Given the description of an element on the screen output the (x, y) to click on. 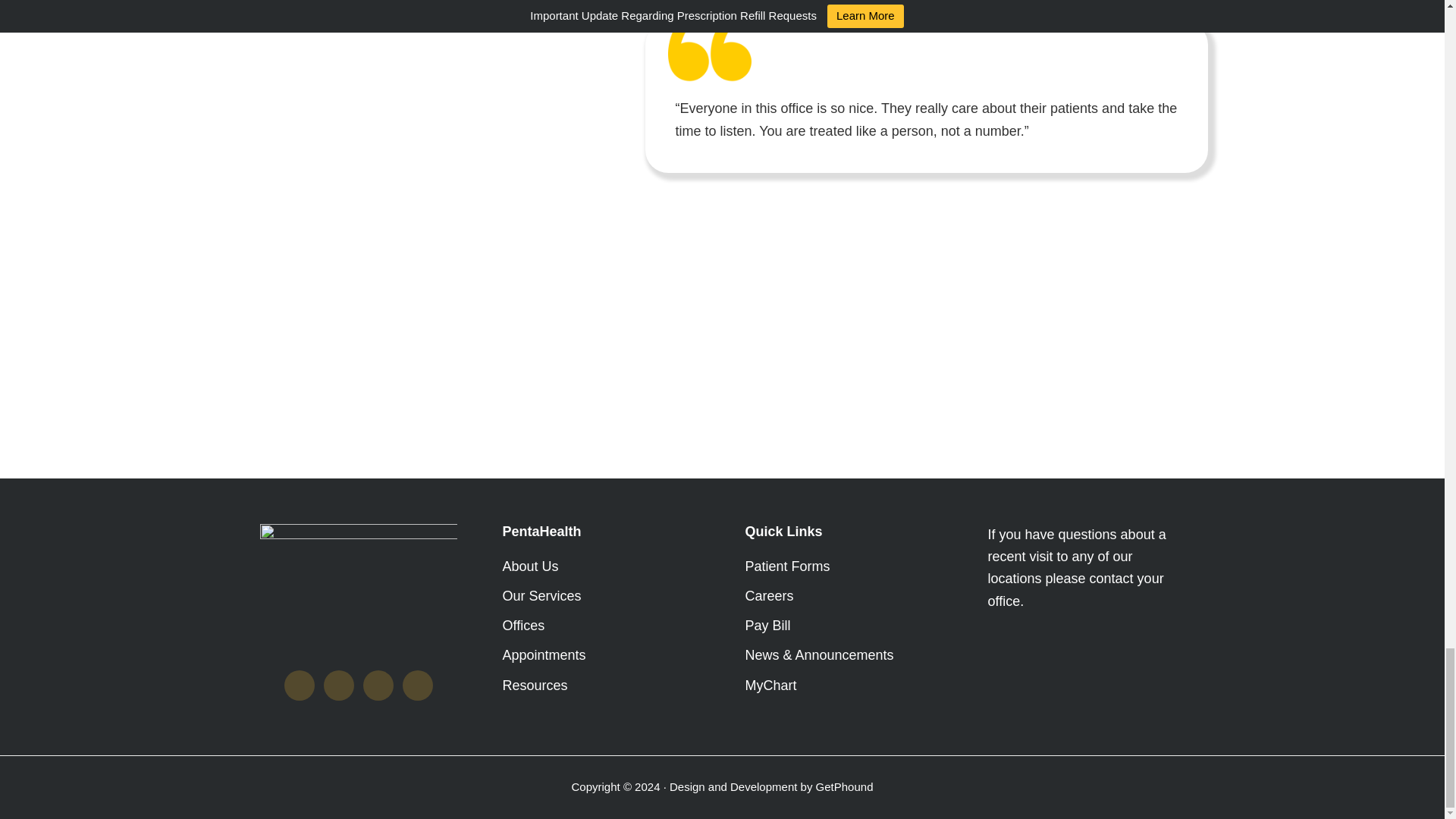
Our Services (541, 595)
About Us (529, 566)
Pay Bill (767, 625)
Appointments (543, 654)
Careers (768, 595)
Offices (523, 625)
Patient Forms (786, 566)
Resources (534, 685)
